Given the description of an element on the screen output the (x, y) to click on. 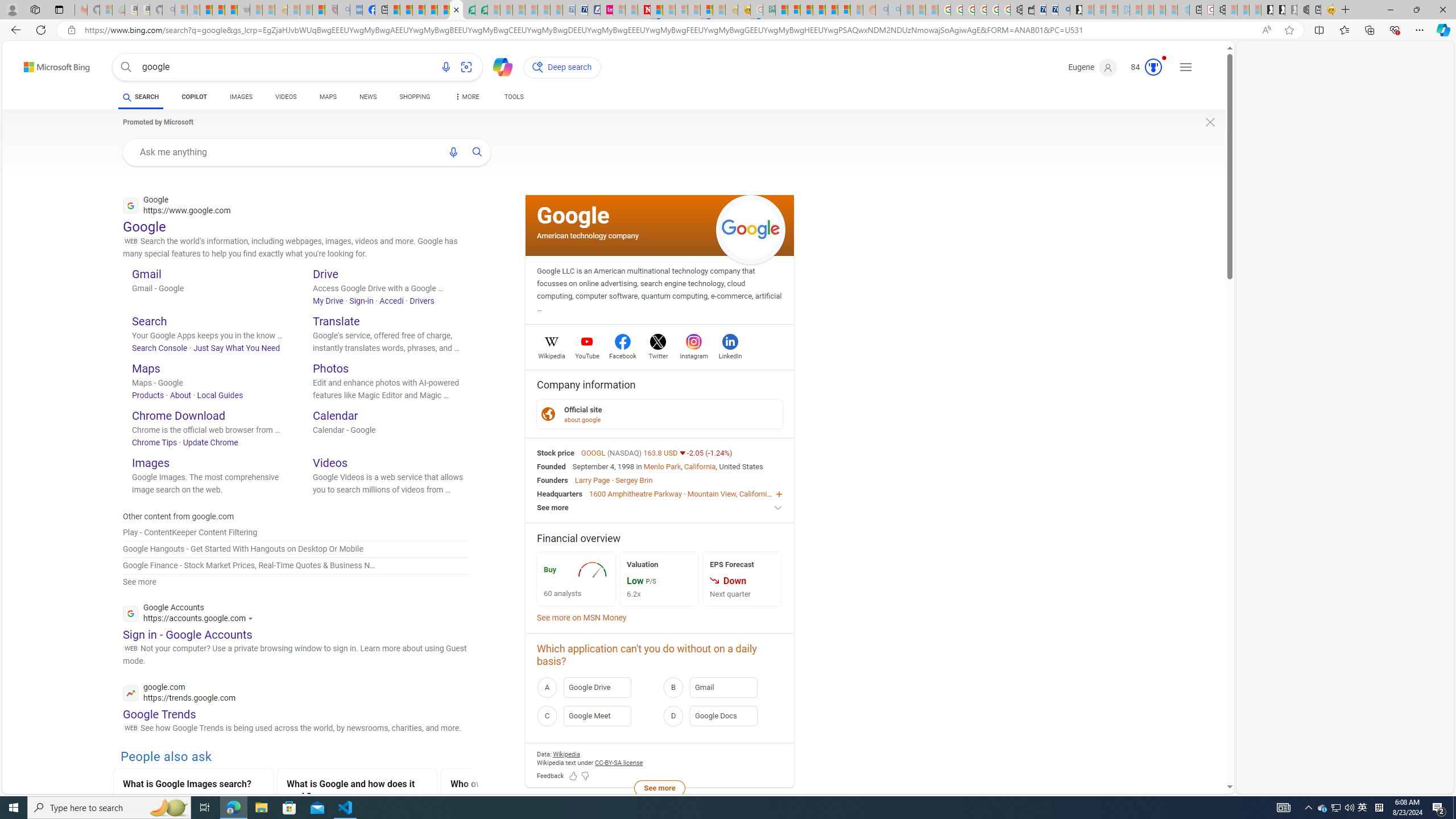
Microsoft Rewards 84 (1142, 67)
MORE (465, 98)
Instagram (693, 354)
Official Site Official site about.google (659, 413)
Search using voice (452, 151)
Local - MSN (318, 9)
Mountain View, California (729, 492)
CC-BY-SA license (619, 762)
